Given the description of an element on the screen output the (x, y) to click on. 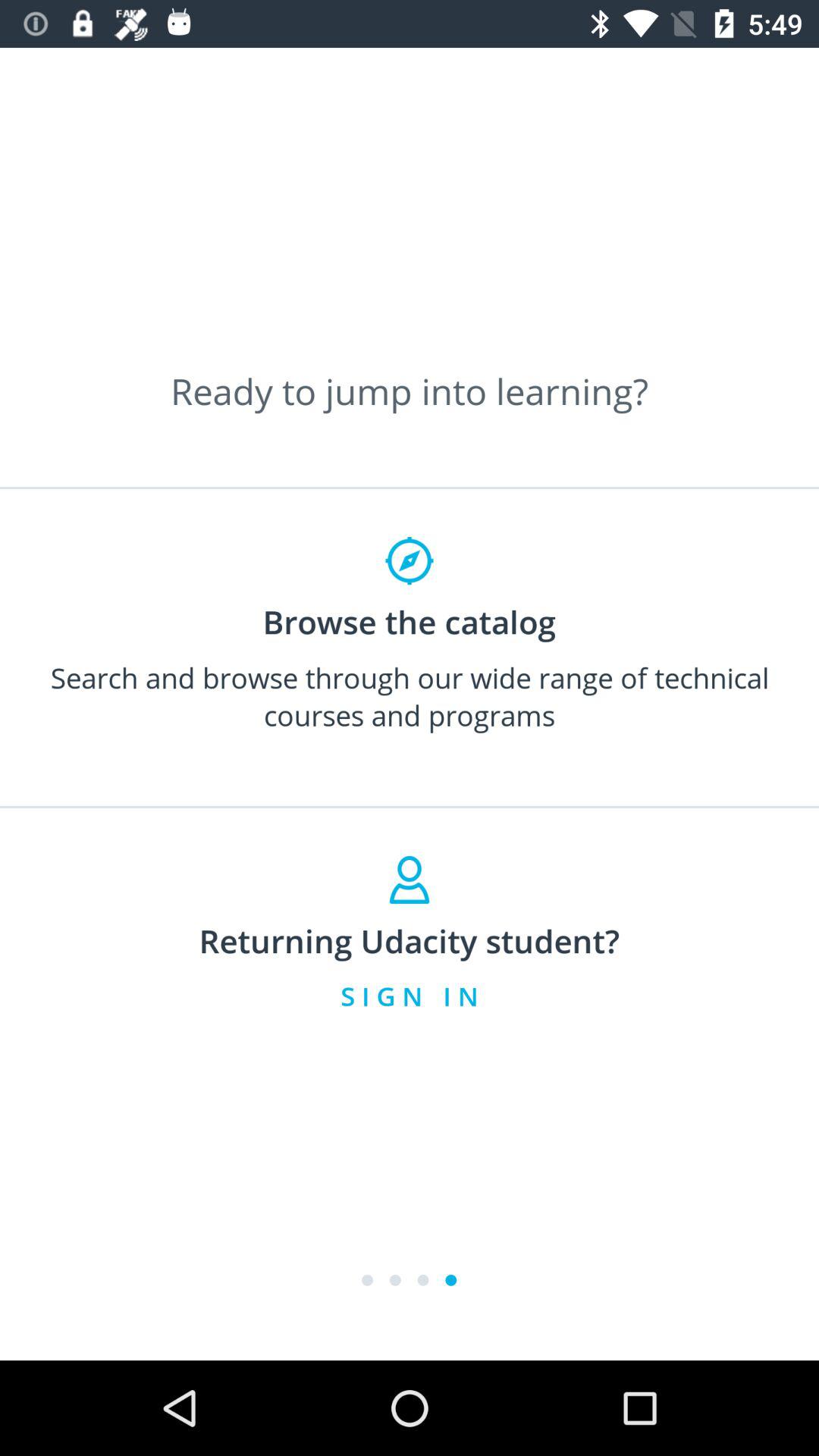
launch item below returning udacity student? item (409, 995)
